Given the description of an element on the screen output the (x, y) to click on. 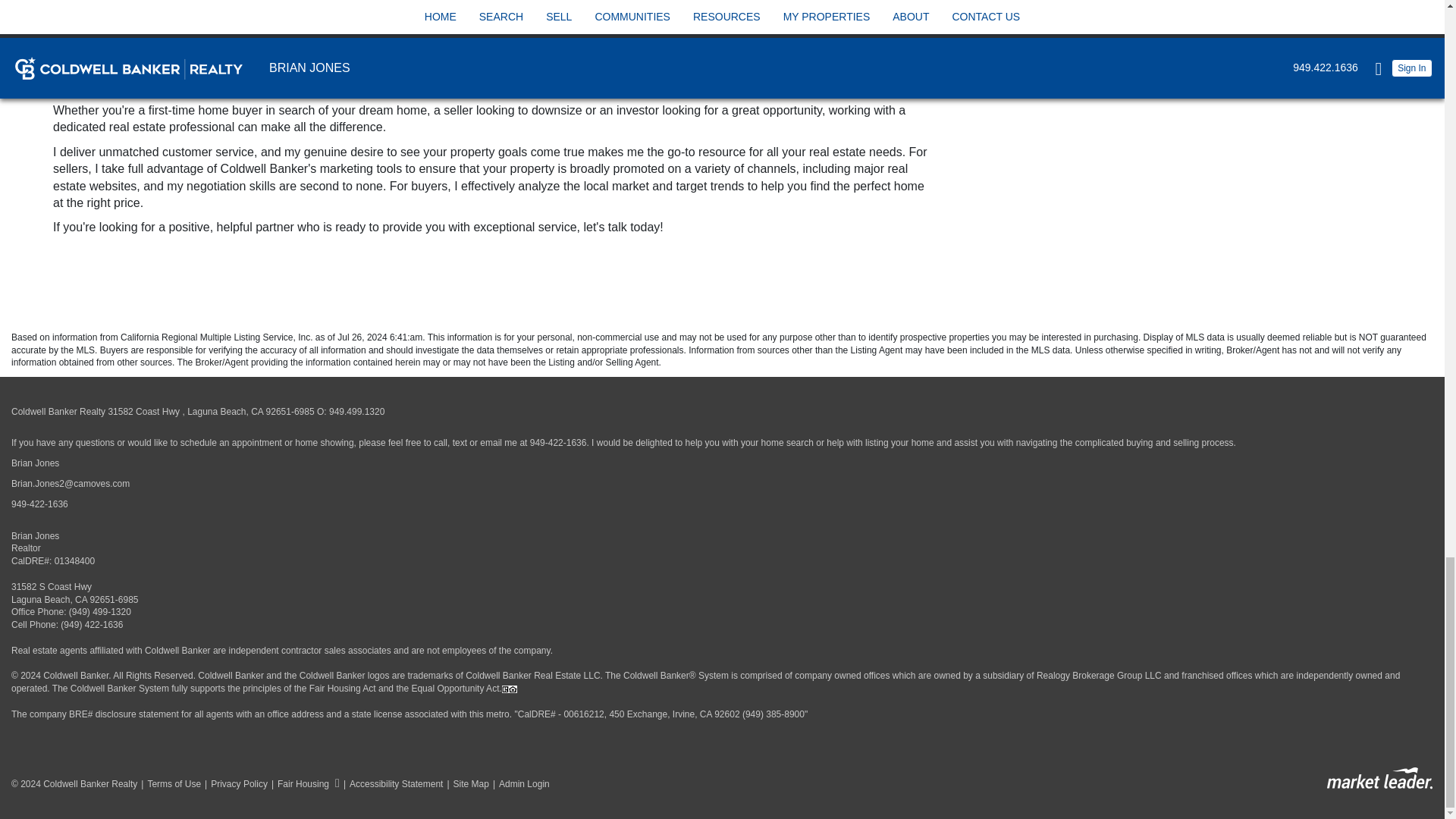
949.499.1320 (356, 411)
Privacy Policy (233, 784)
Accessibility Statement (391, 784)
Terms of Use (168, 784)
Powered By Market Leader (1379, 778)
Fair Housing (303, 784)
